Given the description of an element on the screen output the (x, y) to click on. 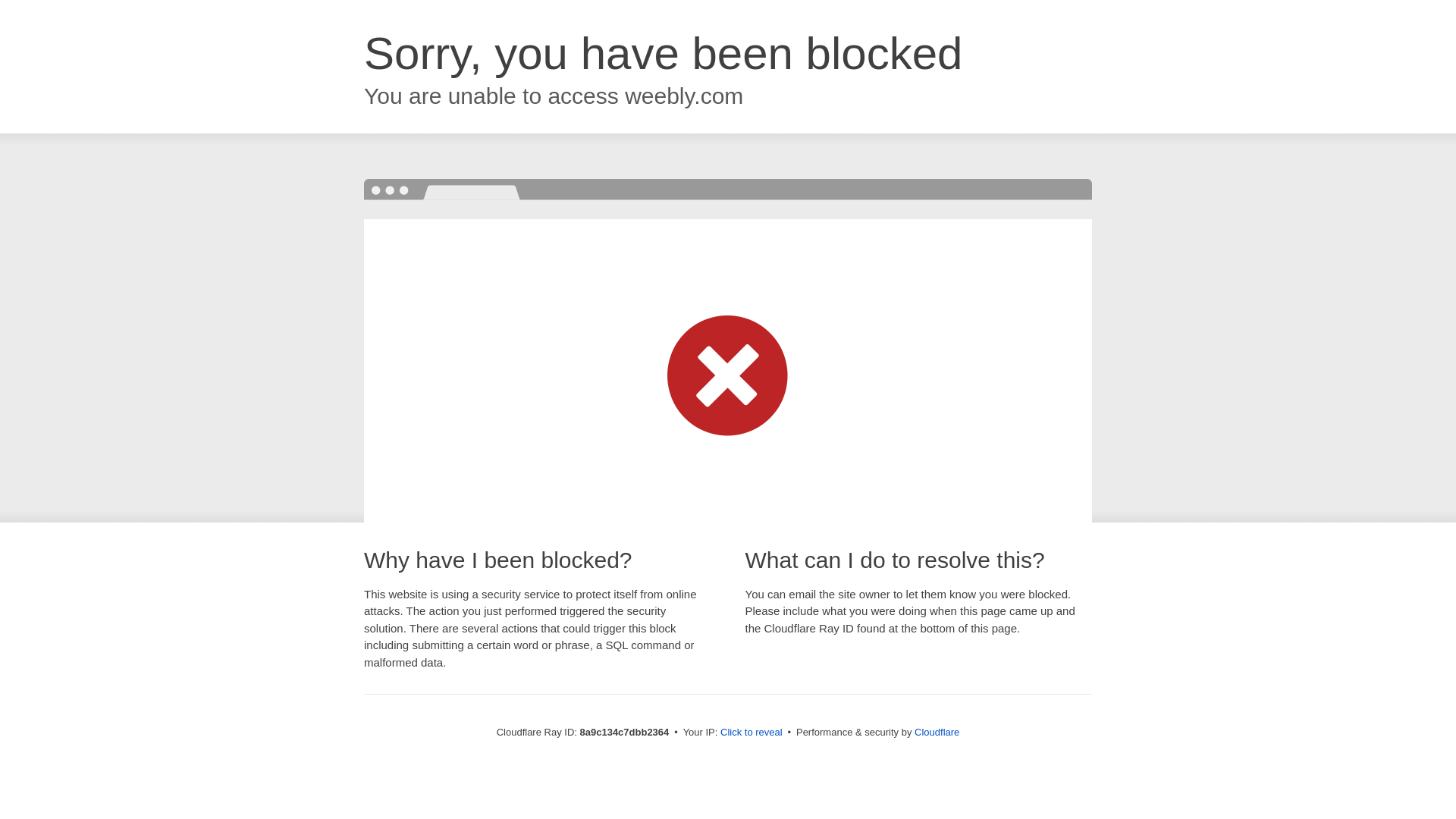
Cloudflare (936, 731)
Click to reveal (751, 732)
